Given the description of an element on the screen output the (x, y) to click on. 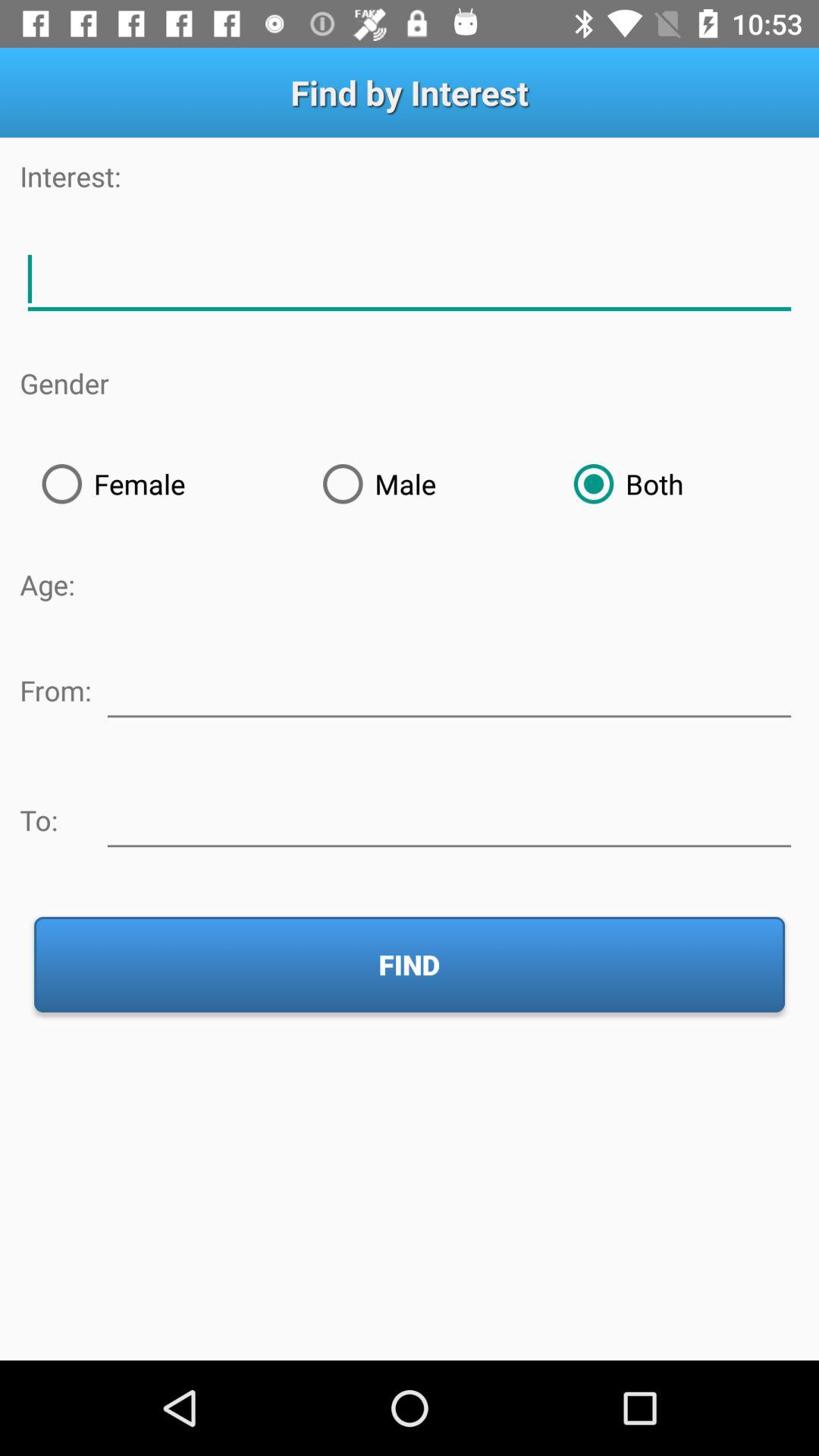
choose the icon next to the both (426, 483)
